Given the description of an element on the screen output the (x, y) to click on. 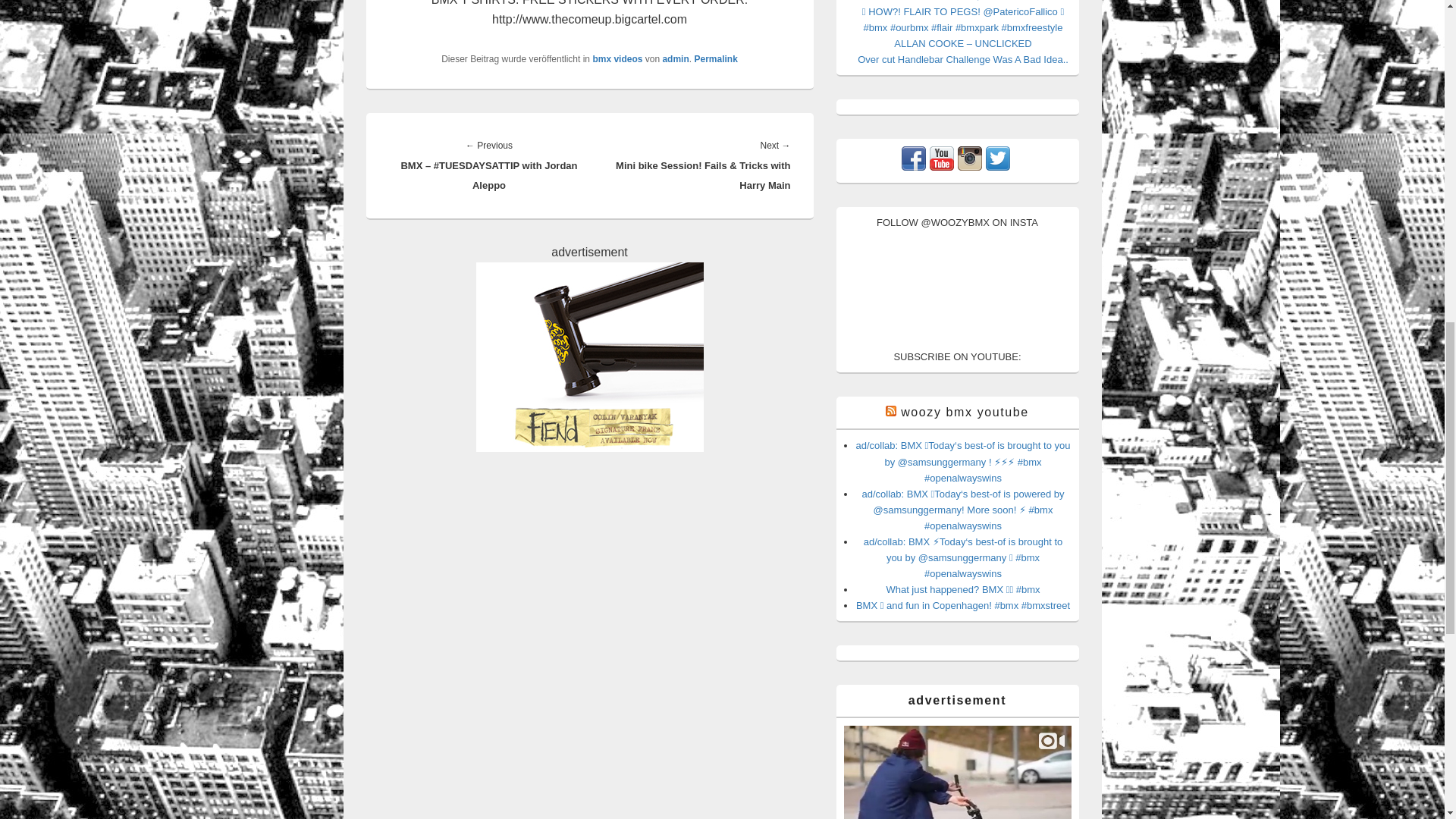
Over cut Handlebar Challenge Was A Bad Idea.. (962, 59)
sibmx.de (589, 357)
bmx videos (617, 59)
Permalink (715, 59)
Follow woozybmx on Twitter (997, 166)
admin (675, 59)
Connect on Facebook (912, 166)
instagram.com (956, 772)
woozybmx on Instagram (968, 166)
woozybmx - YouTube (941, 166)
woozy bmx youtube (965, 411)
